Given the description of an element on the screen output the (x, y) to click on. 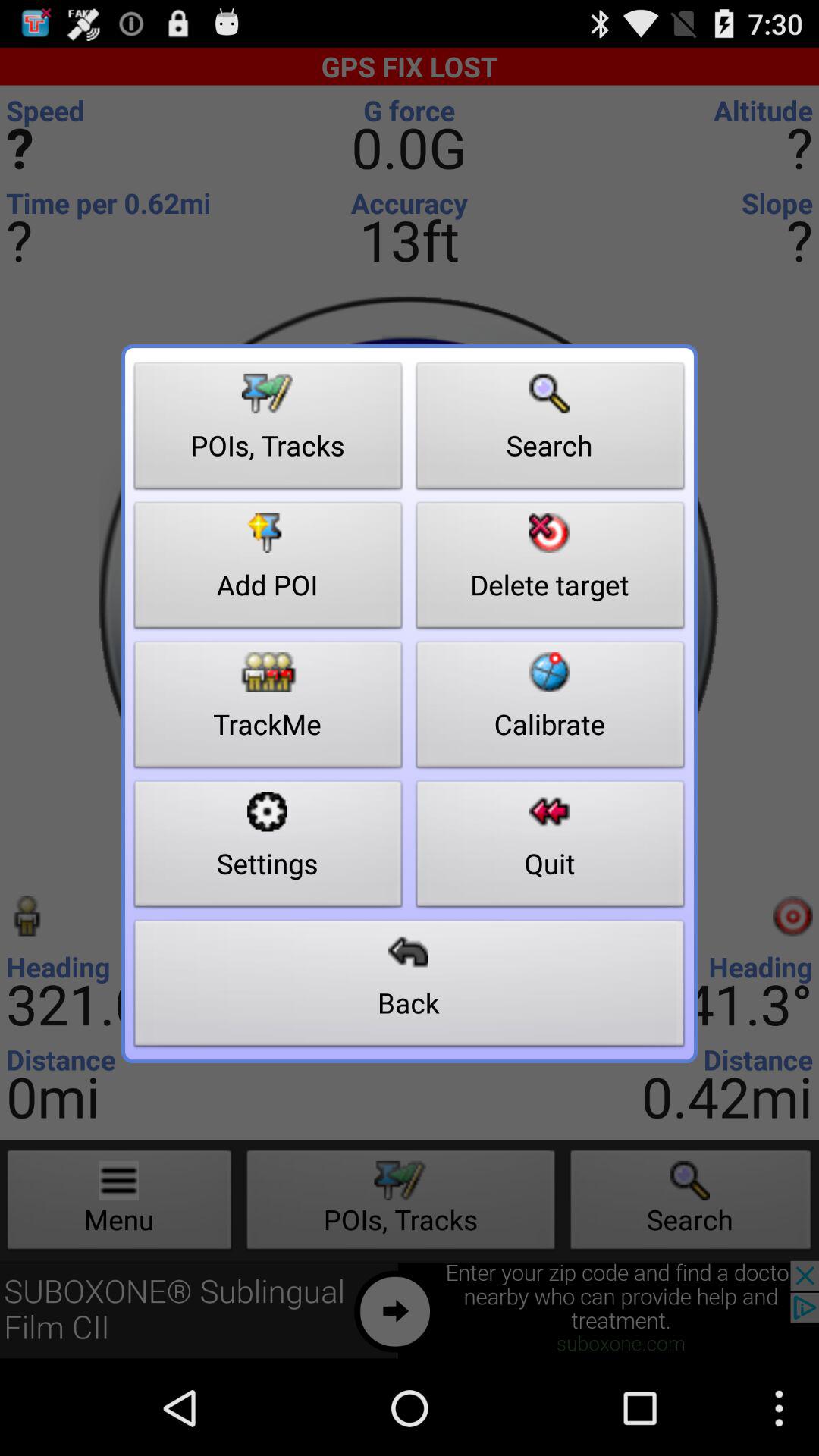
press icon next to the add poi button (550, 708)
